Given the description of an element on the screen output the (x, y) to click on. 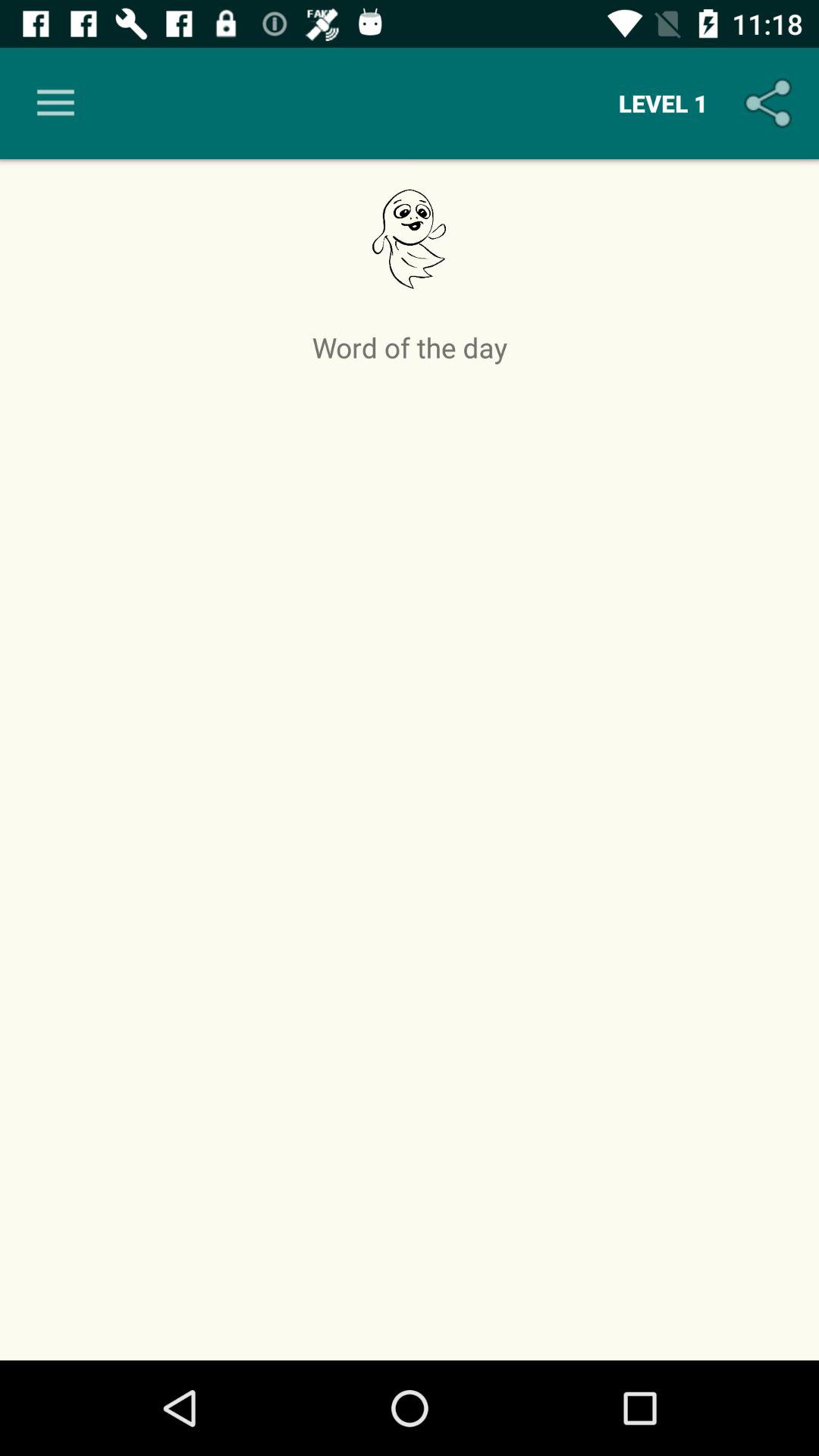
launch the item at the center (409, 858)
